Given the description of an element on the screen output the (x, y) to click on. 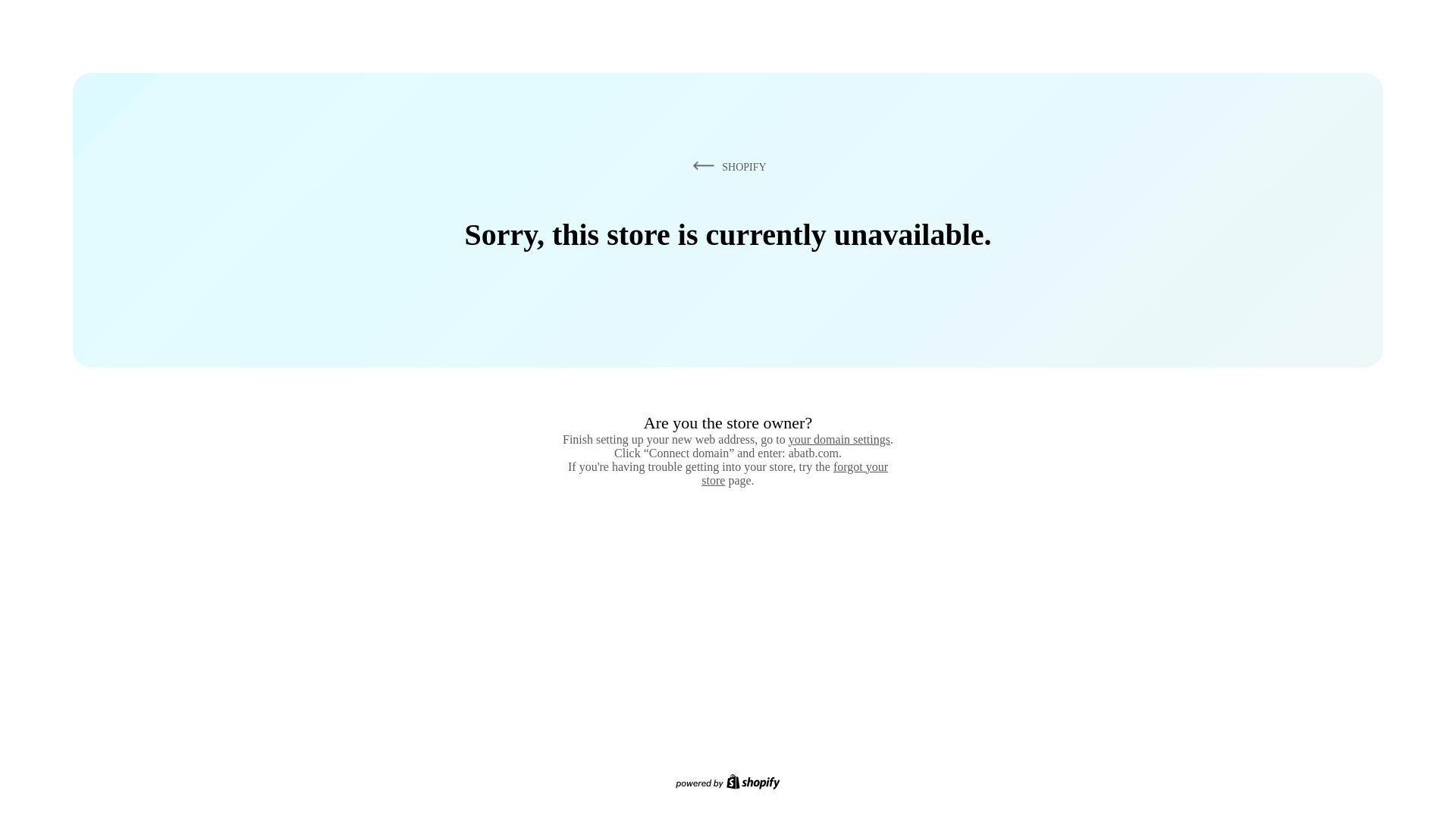
forgot your store (794, 473)
your domain settings (839, 439)
SHOPIFY (726, 166)
